Given the description of an element on the screen output the (x, y) to click on. 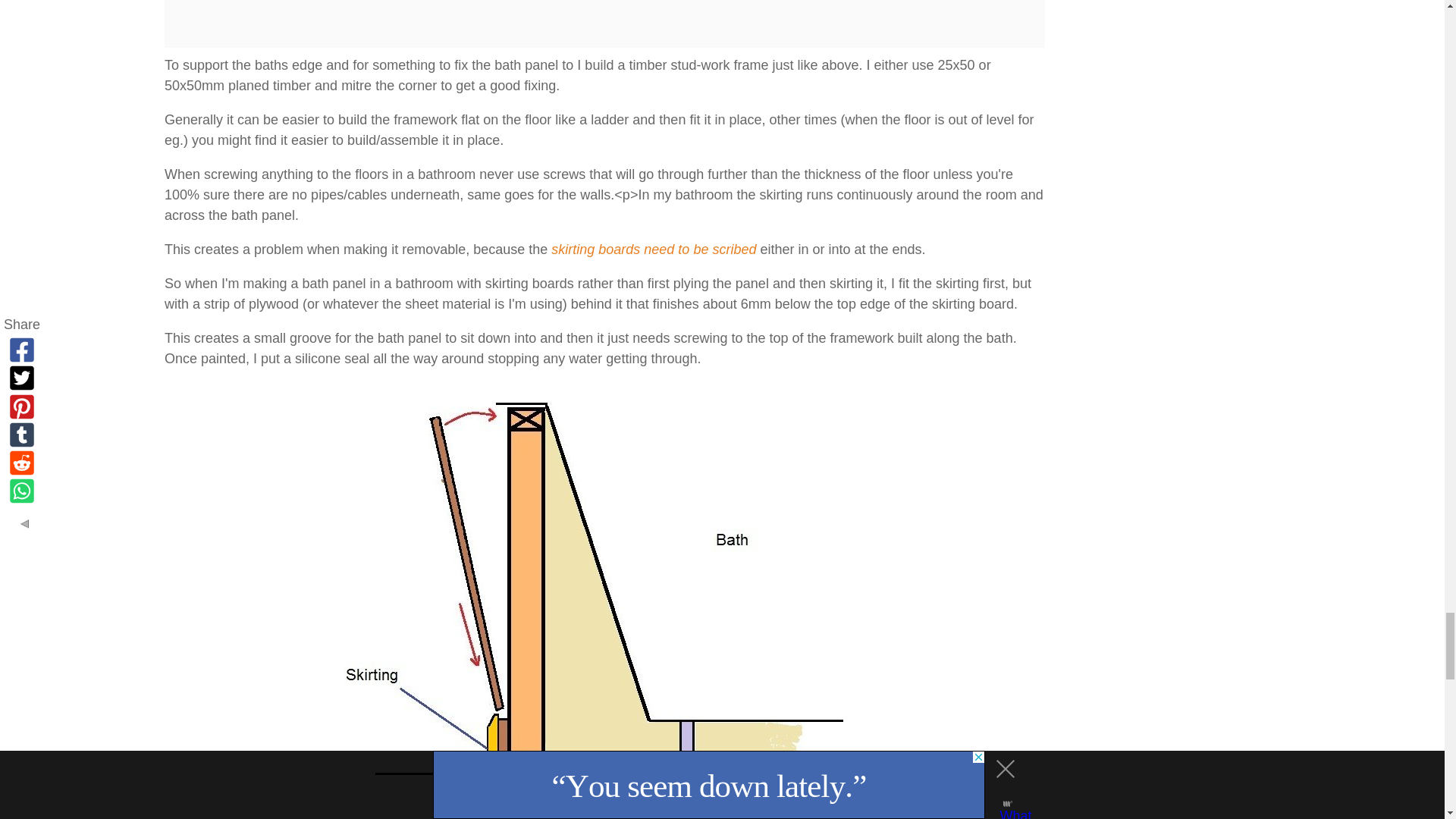
skirting boards need to be scribed (653, 249)
